Given the description of an element on the screen output the (x, y) to click on. 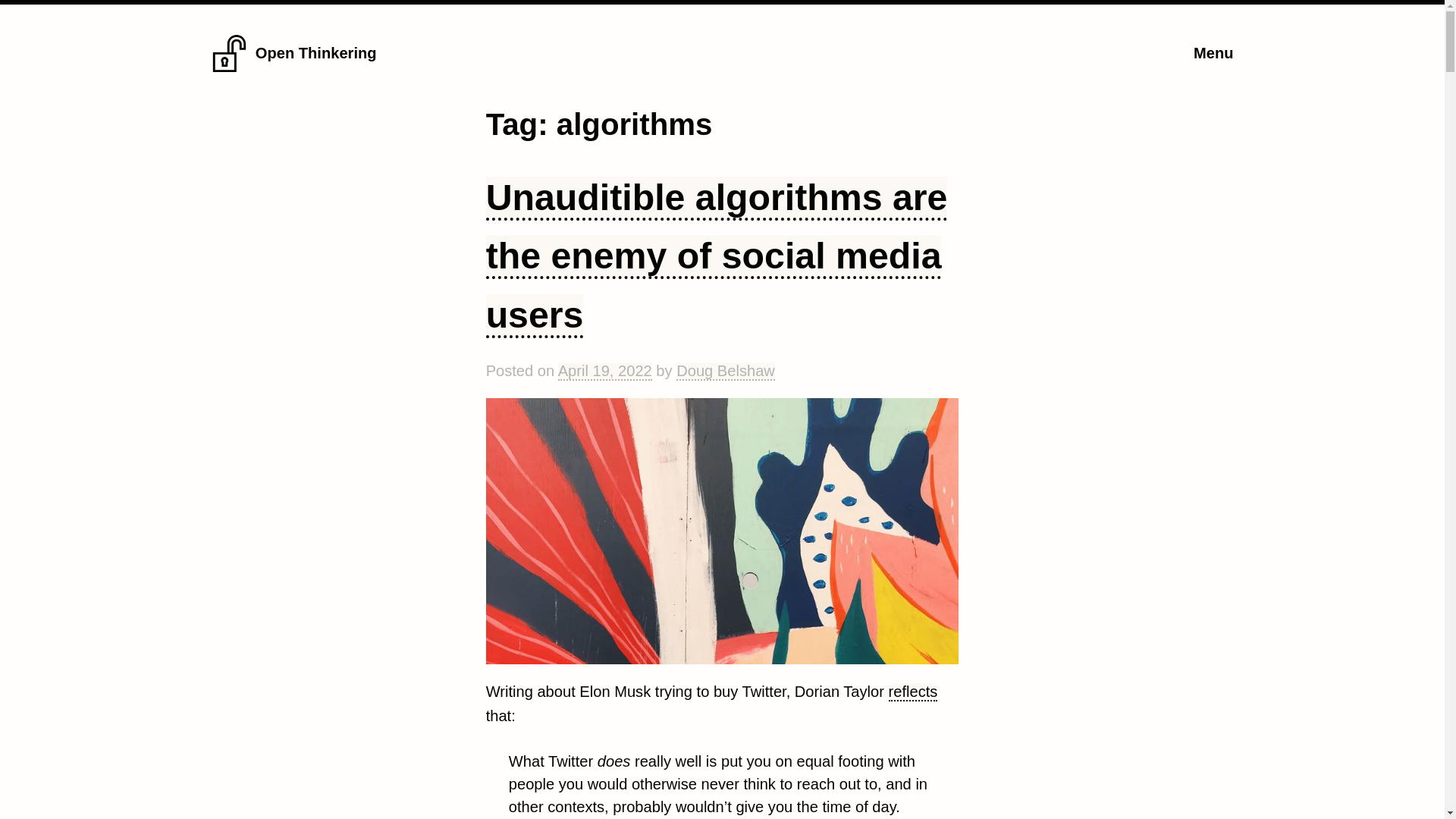
reflects (912, 692)
April 19, 2022 (604, 371)
Doug Belshaw (725, 371)
Home (229, 66)
Open Thinkering (316, 53)
Unauditible algorithms are the enemy of social media users (716, 257)
Menu (1213, 52)
